Given the description of an element on the screen output the (x, y) to click on. 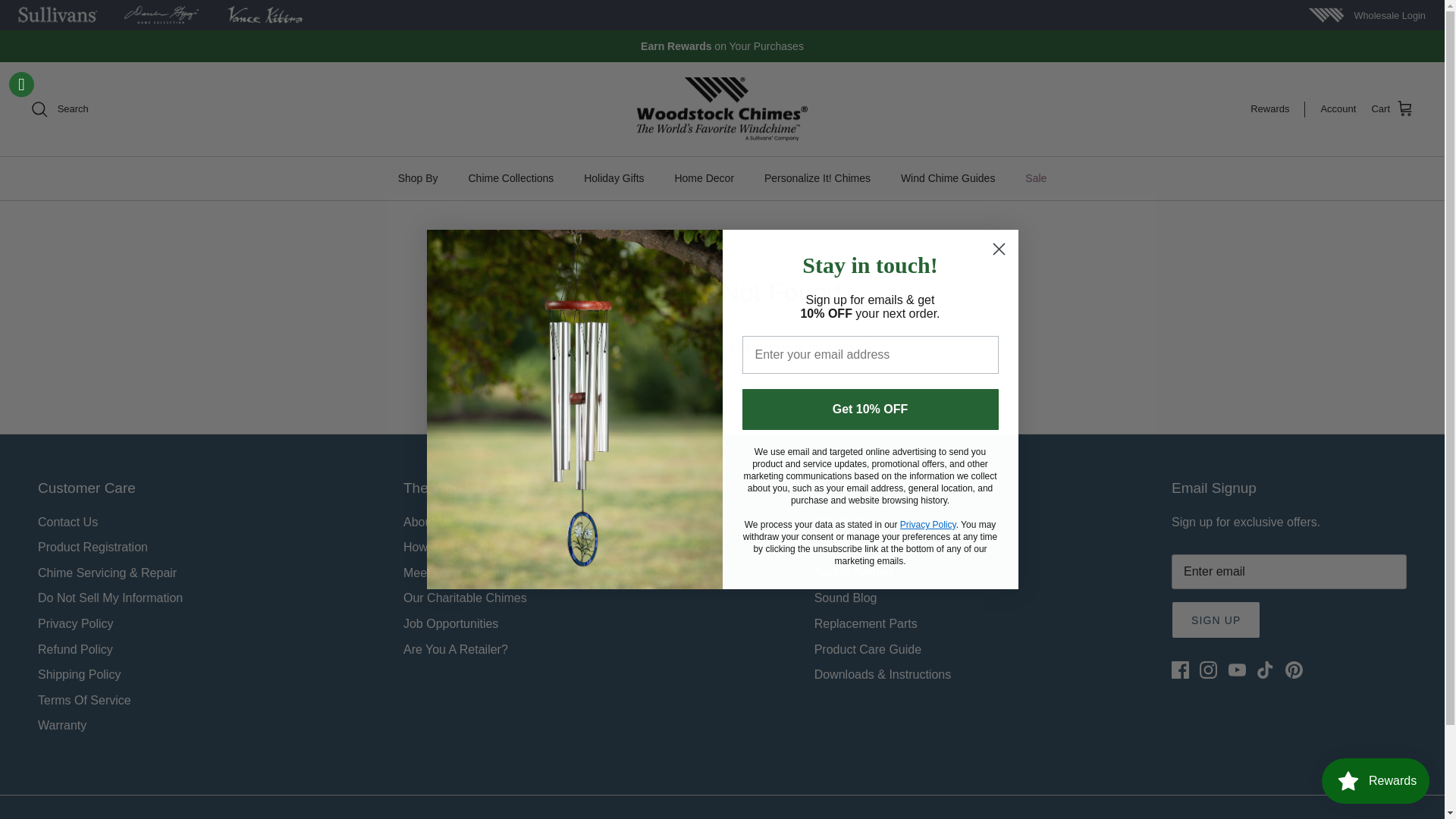
Instagram (1208, 669)
Account (1337, 109)
Youtube (1237, 669)
Rewards (1277, 109)
Wholesale Login (1389, 15)
Woodstock Chimes (722, 108)
Close dialog 1 (998, 248)
Shop By (417, 178)
Pinterest (1294, 669)
Smile.io Rewards Program Launcher (1375, 780)
Cart (1392, 108)
Facebook (1180, 669)
Search (59, 108)
